Given the description of an element on the screen output the (x, y) to click on. 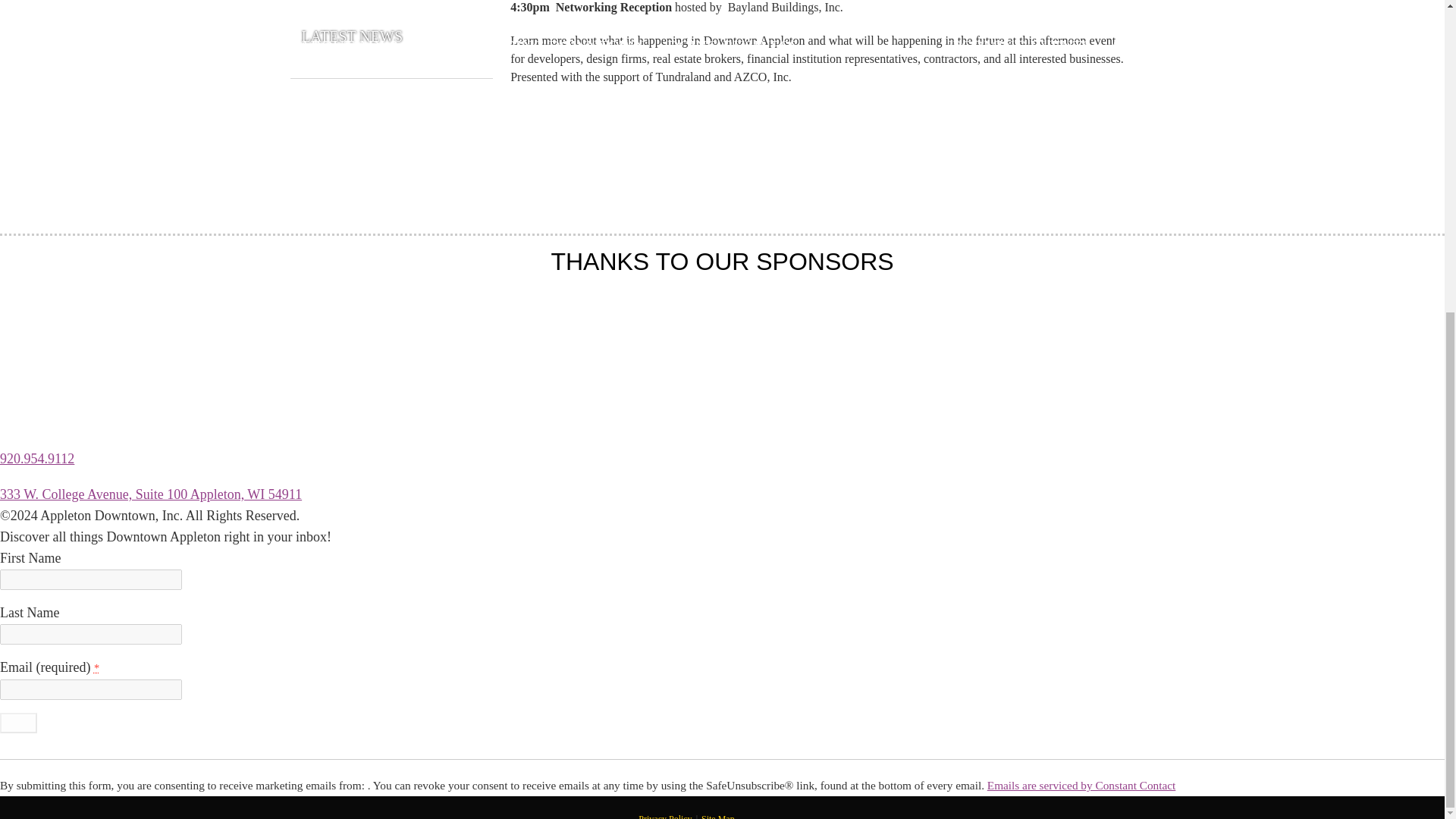
GO! (18, 722)
